Given the description of an element on the screen output the (x, y) to click on. 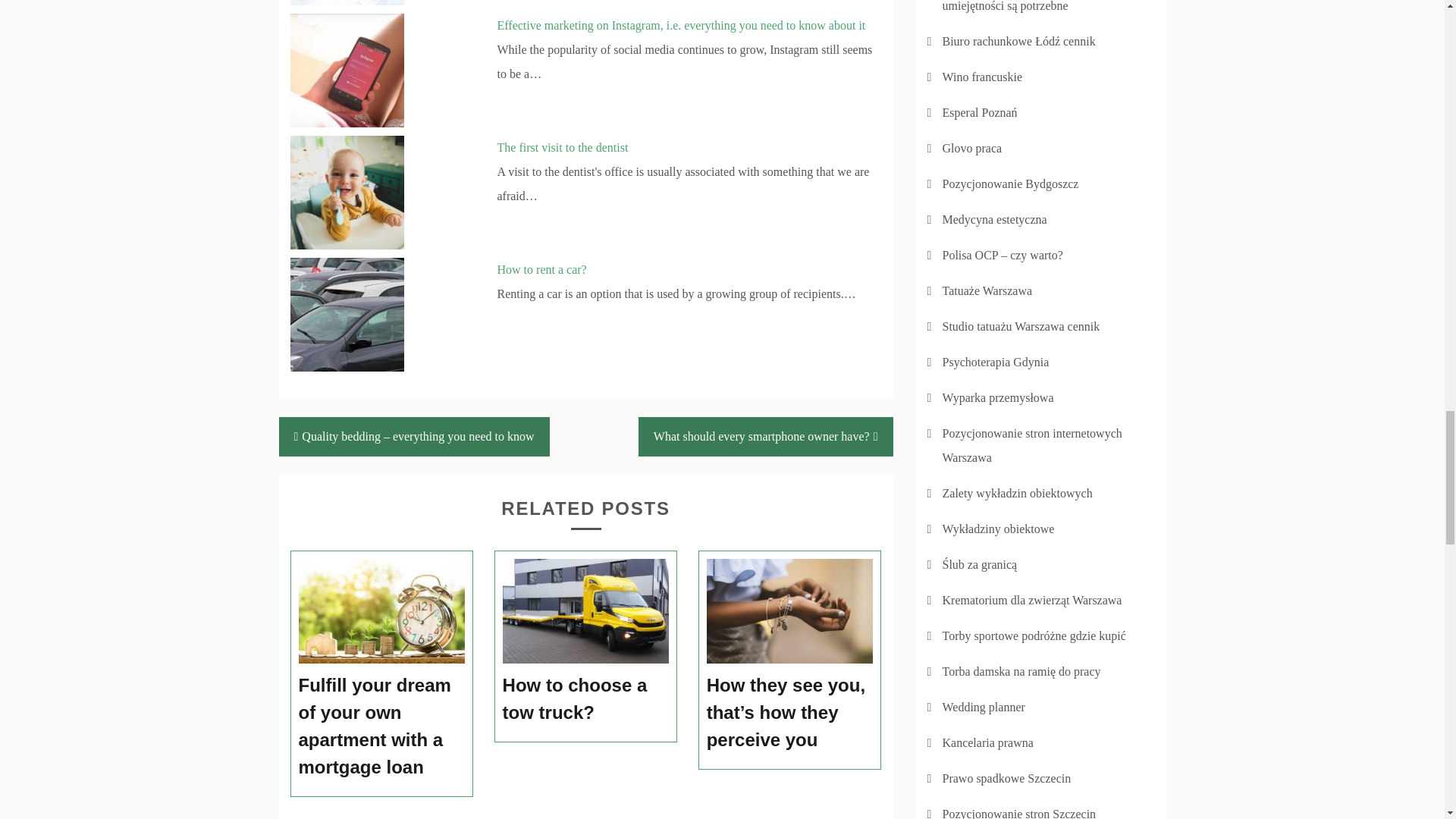
What should every smartphone owner have? (766, 436)
How to rent a car? (541, 269)
How to choose a tow truck? (585, 698)
The first visit to the dentist (562, 146)
